Given the description of an element on the screen output the (x, y) to click on. 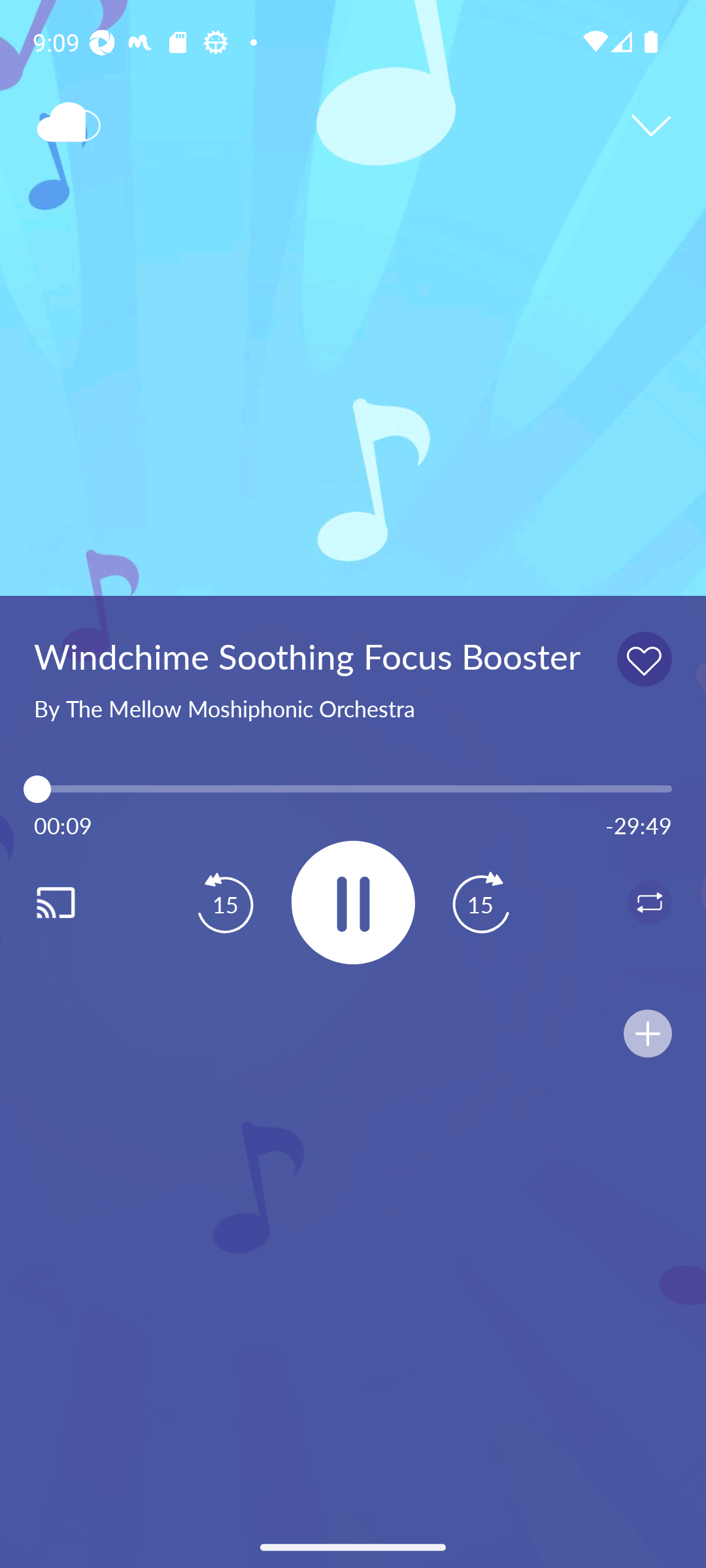
9.0 (352, 789)
Cast. Disconnected (76, 902)
